Given the description of an element on the screen output the (x, y) to click on. 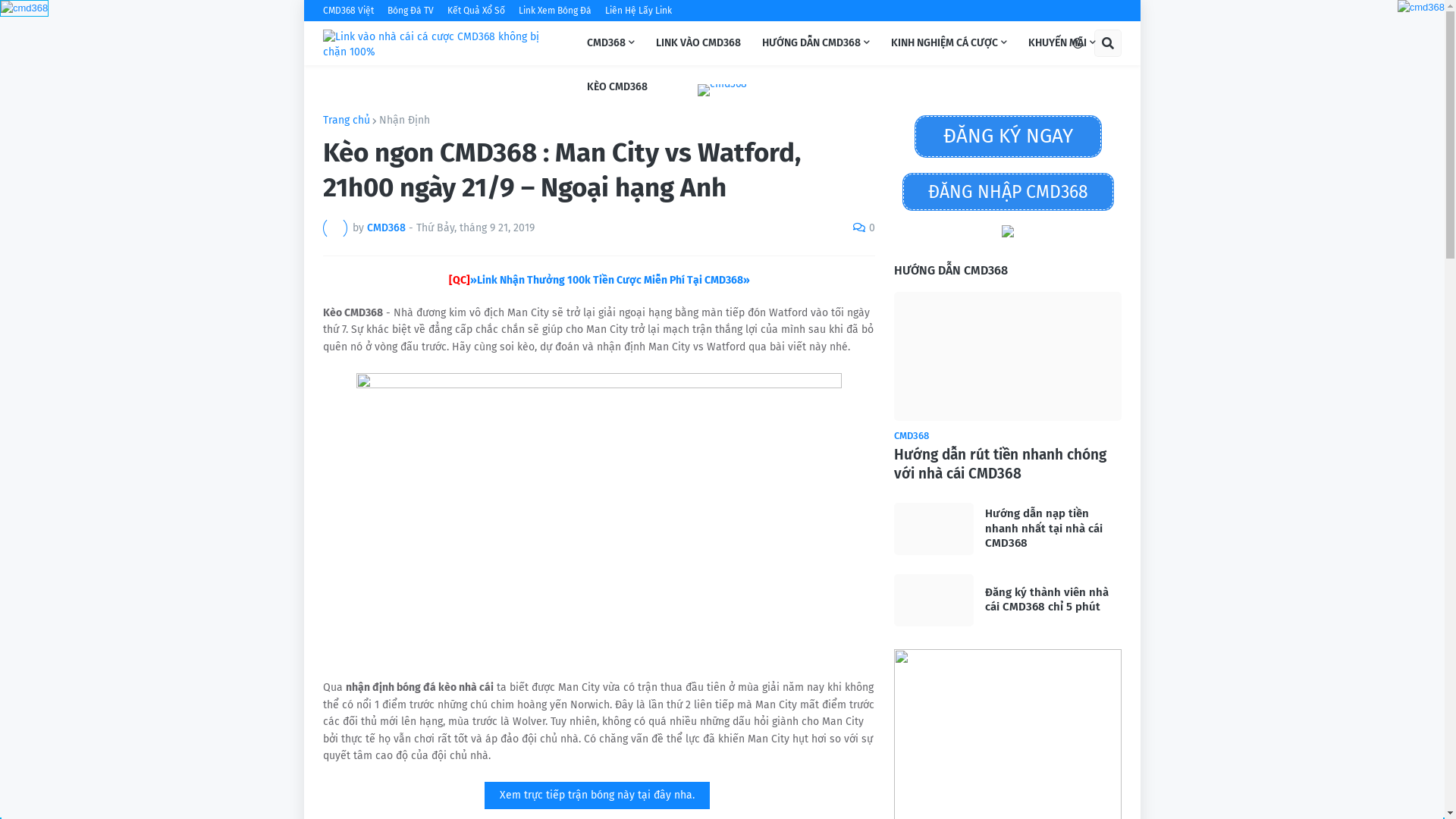
cmd368 Element type: hover (1420, 6)
cmd368 Element type: hover (1420, 7)
cmd368 Element type: hover (23, 7)
cmd368 Element type: hover (23, 7)
CMD368 Element type: text (610, 43)
